Given the description of an element on the screen output the (x, y) to click on. 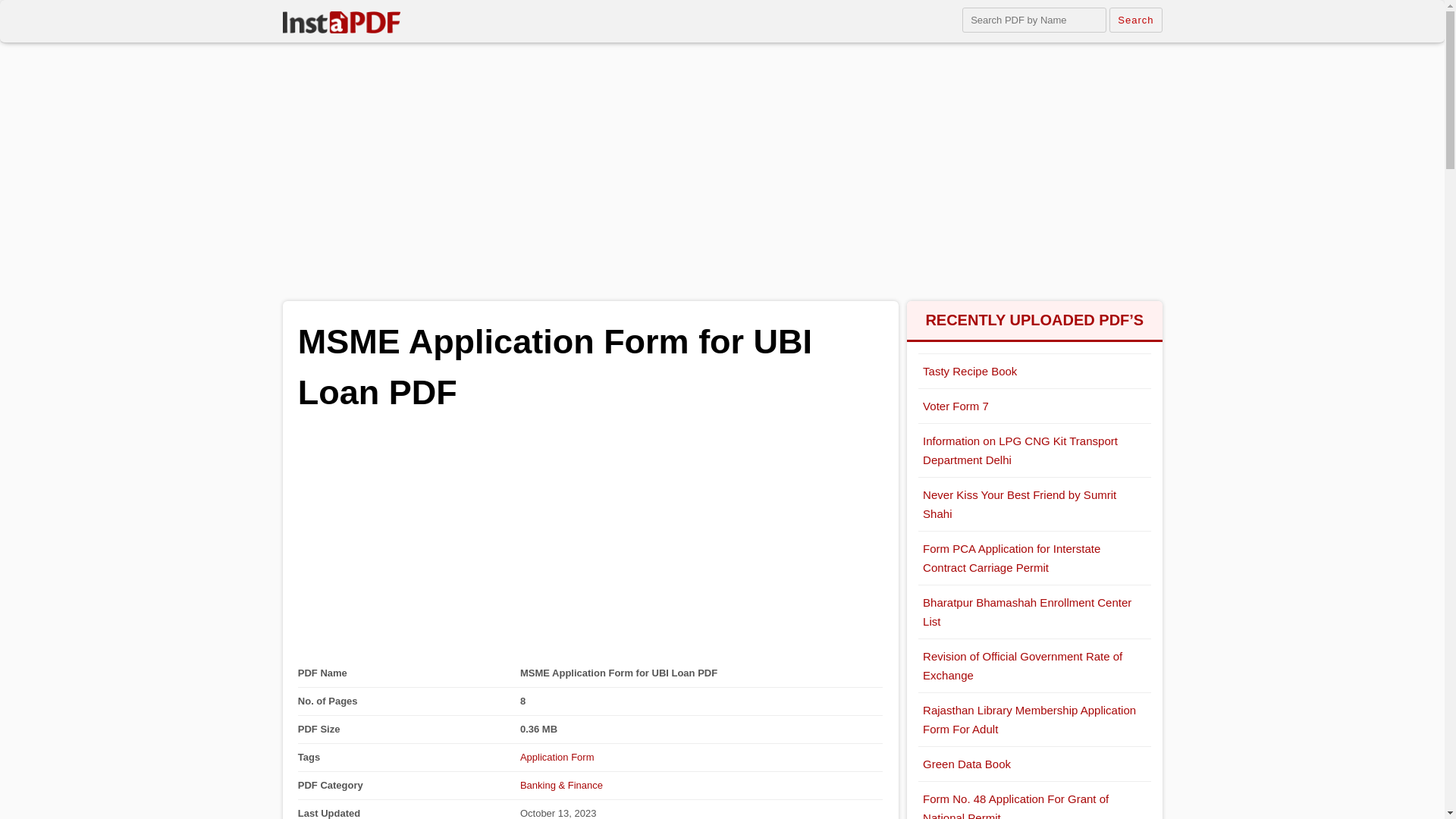
Green Data Book (1034, 763)
Revision of Official Government Rate of Exchange (1034, 665)
Rajasthan Library Membership Application Form For Adult (1034, 719)
Form No. 48 Application For Grant of National Permit (1034, 800)
Form PCA Application for Interstate Contract Carriage Permit (1034, 557)
Search (1135, 19)
Application Form (556, 756)
Search (1135, 19)
Information on LPG CNG Kit Transport Department Delhi (1034, 450)
Voter Form 7 (1034, 406)
